Given the description of an element on the screen output the (x, y) to click on. 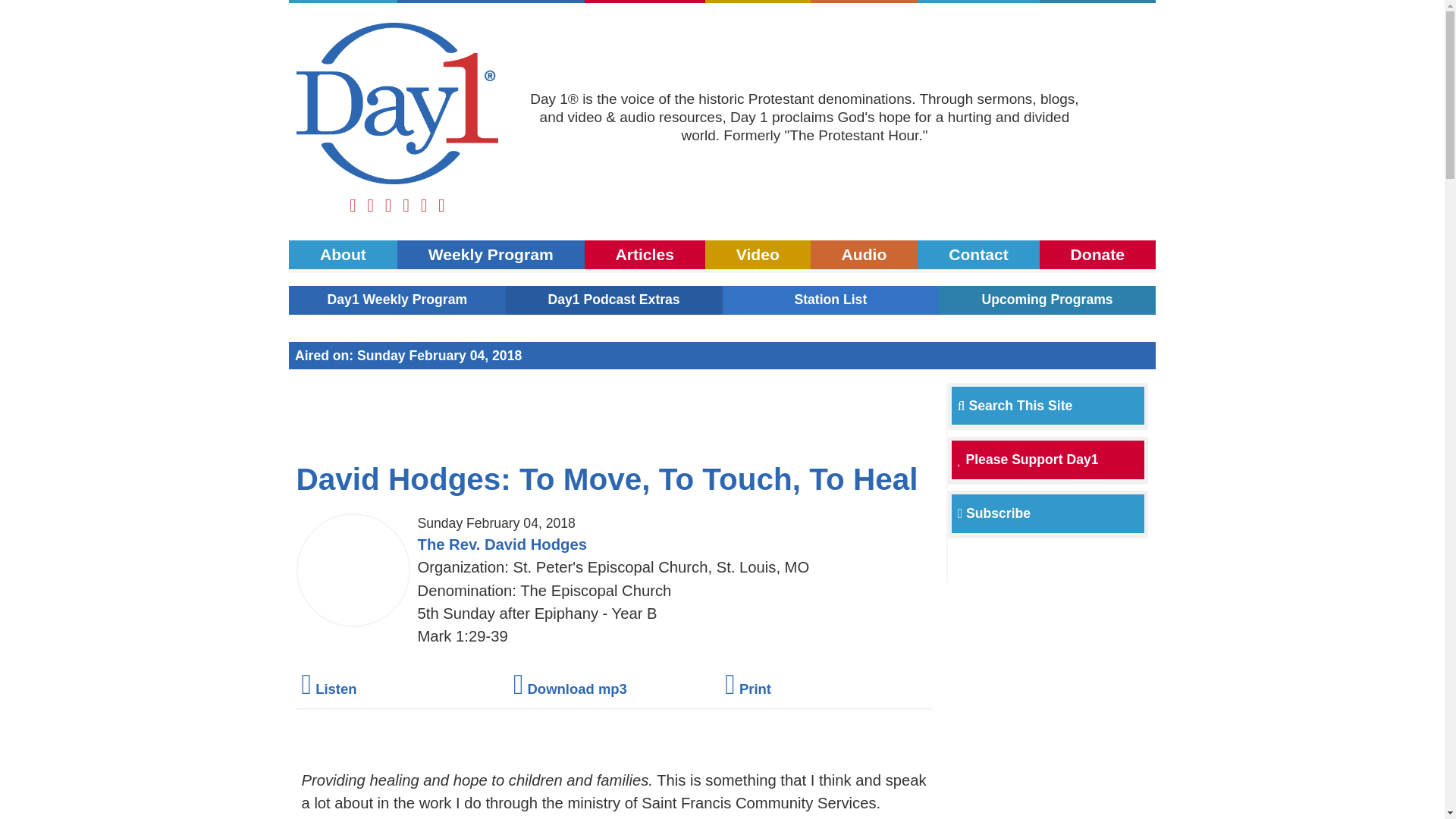
Please Support Day1 (1028, 459)
Video (757, 1)
About Day1 (342, 1)
Contact Day1 (978, 1)
Audio (864, 254)
Day1 Audio (864, 254)
Day1 Video (757, 254)
Day1 Weekly Program (491, 254)
Articles (644, 1)
About Day1 (342, 254)
Weekly Program (491, 254)
About (342, 1)
Contact (978, 254)
Day1 Video (757, 1)
Day1 Weekly Program (396, 299)
